Given the description of an element on the screen output the (x, y) to click on. 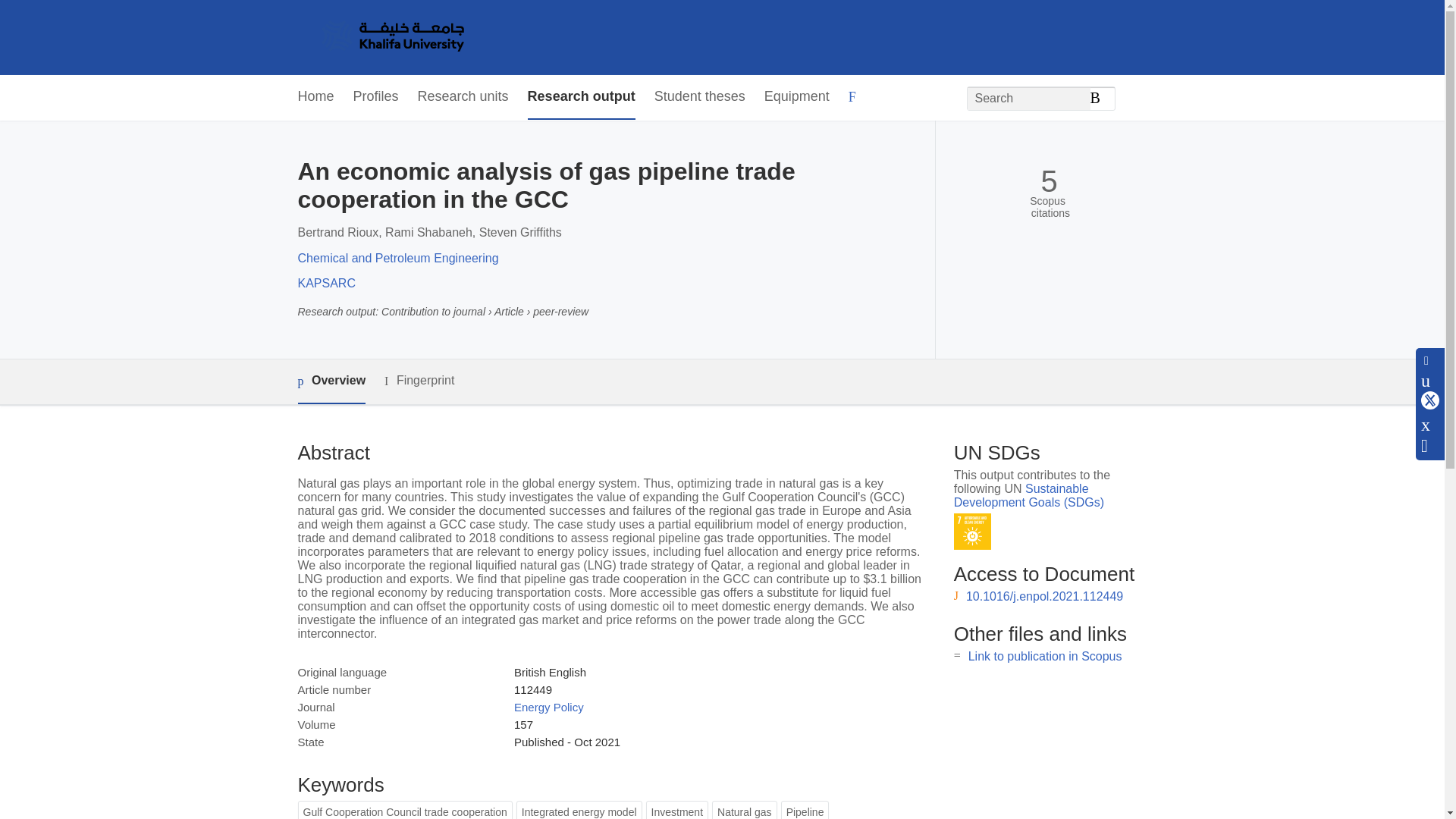
Fingerprint (419, 380)
Student theses (699, 97)
Chemical and Petroleum Engineering (397, 257)
Profiles (375, 97)
Khalifa University Home (391, 37)
KAPSARC (326, 282)
SDG 7 - Affordable and Clean Energy (972, 531)
Energy Policy (548, 707)
Research output (580, 97)
